Given the description of an element on the screen output the (x, y) to click on. 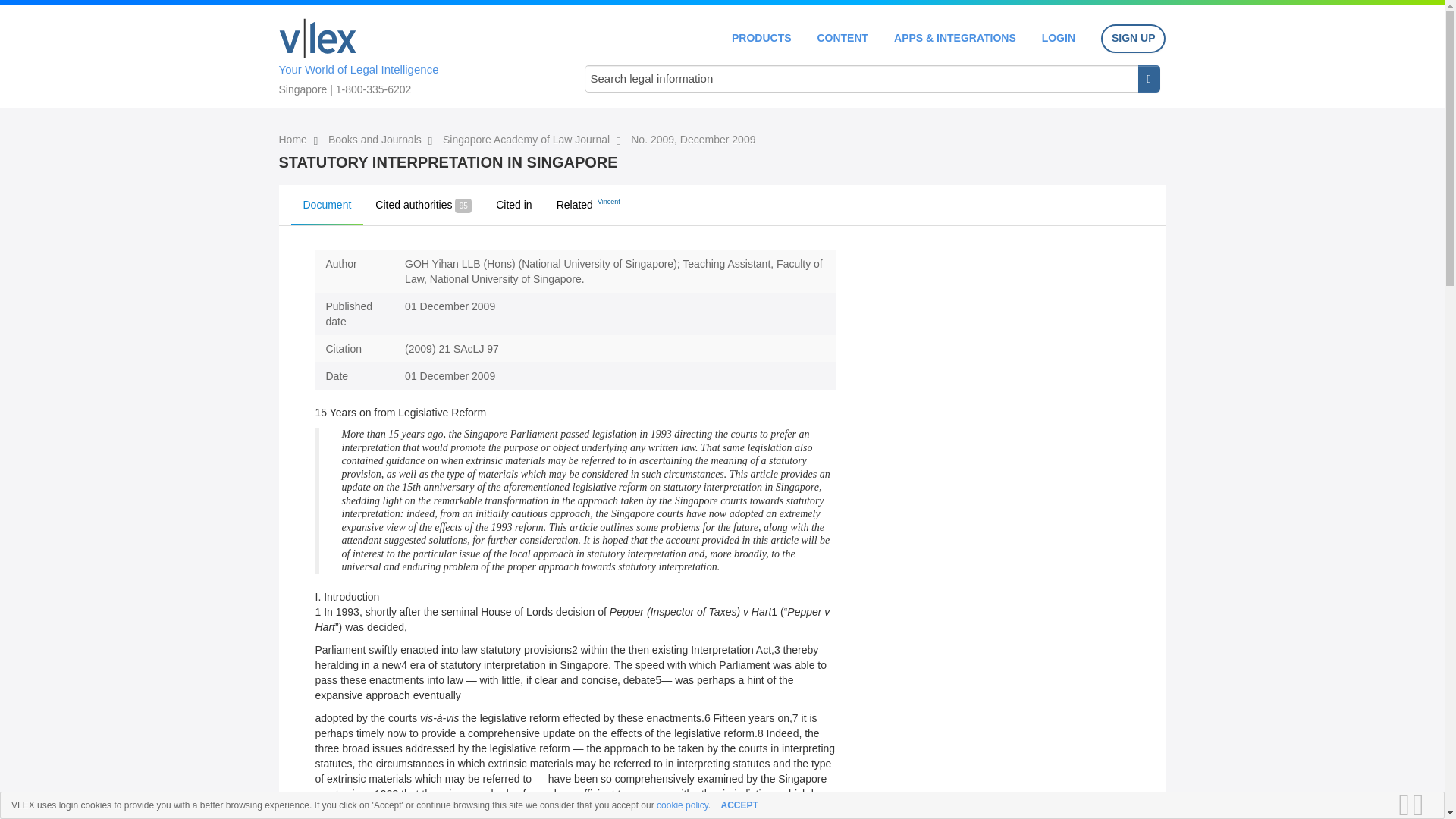
ACCEPT (739, 805)
PRODUCTS (762, 37)
Singapore Academy of Law Journal (527, 139)
Home (317, 38)
SIGN UP (1133, 38)
LOGIN (1058, 37)
Home (294, 139)
CLOSE (1422, 805)
No. 2009, December 2009 (692, 139)
Books and Journals (377, 139)
